Given the description of an element on the screen output the (x, y) to click on. 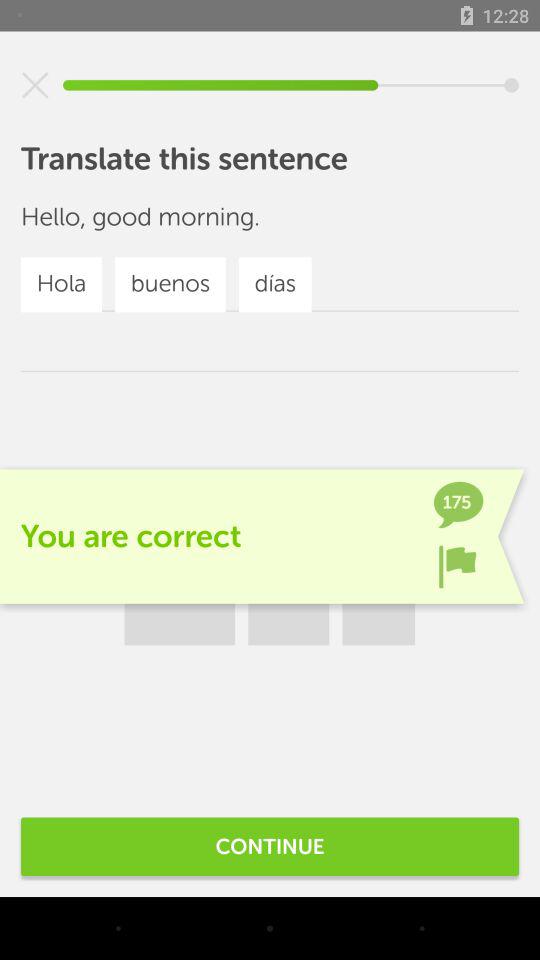
click on continue (269, 846)
click dias (275, 284)
click hola (61, 284)
